Given the description of an element on the screen output the (x, y) to click on. 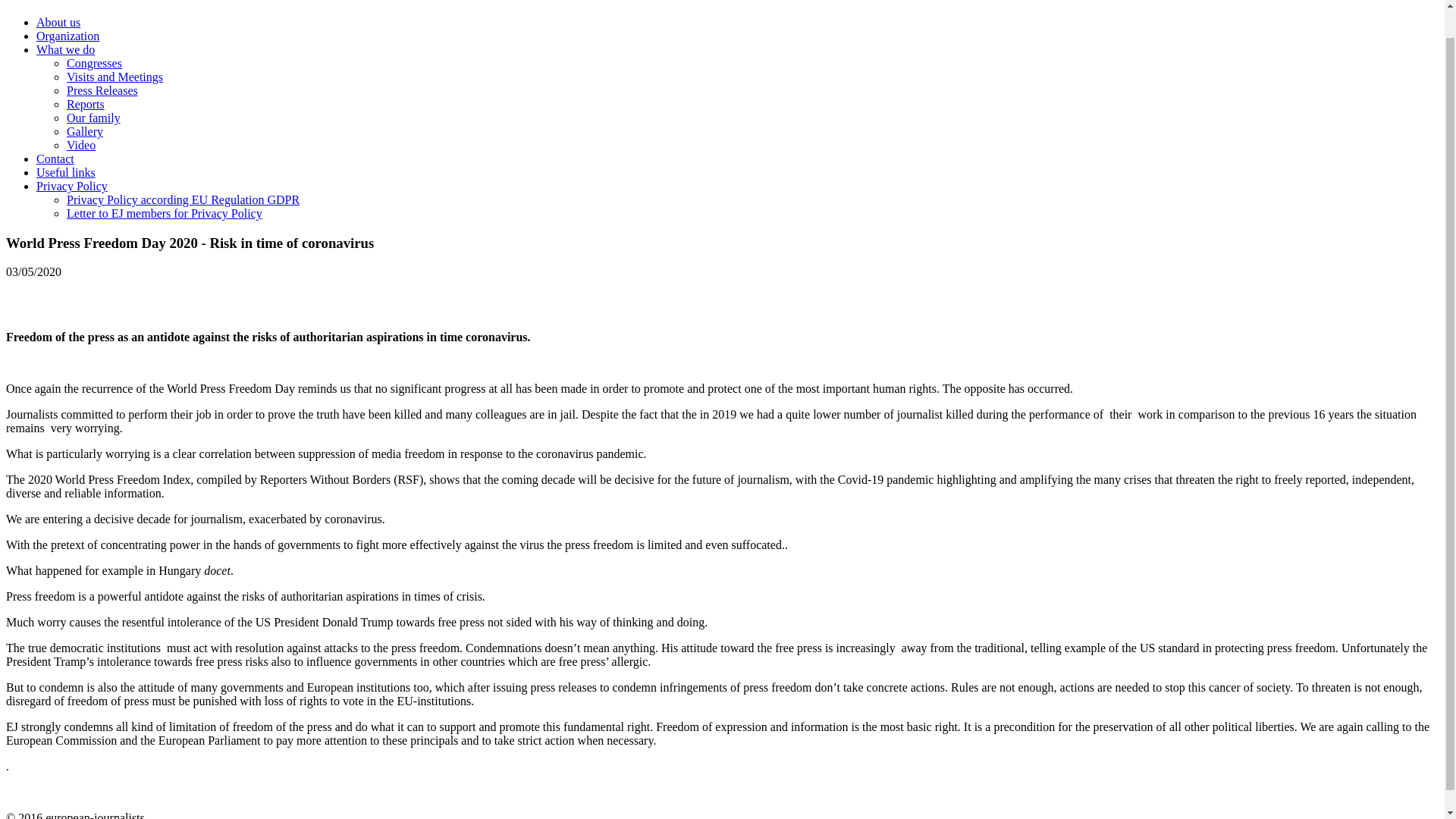
Video (81, 144)
Our family (93, 117)
Visits and Meetings (114, 76)
Letter to EJ members for Privacy Policy (164, 213)
Press Releases (102, 90)
What we do (65, 49)
Privacy Policy according EU Regulation GDPR (182, 199)
Contact (55, 158)
Reports (85, 103)
About us (58, 21)
Organization (67, 35)
Gallery (84, 131)
Privacy Policy (71, 185)
Congresses (94, 62)
Useful links (66, 172)
